Given the description of an element on the screen output the (x, y) to click on. 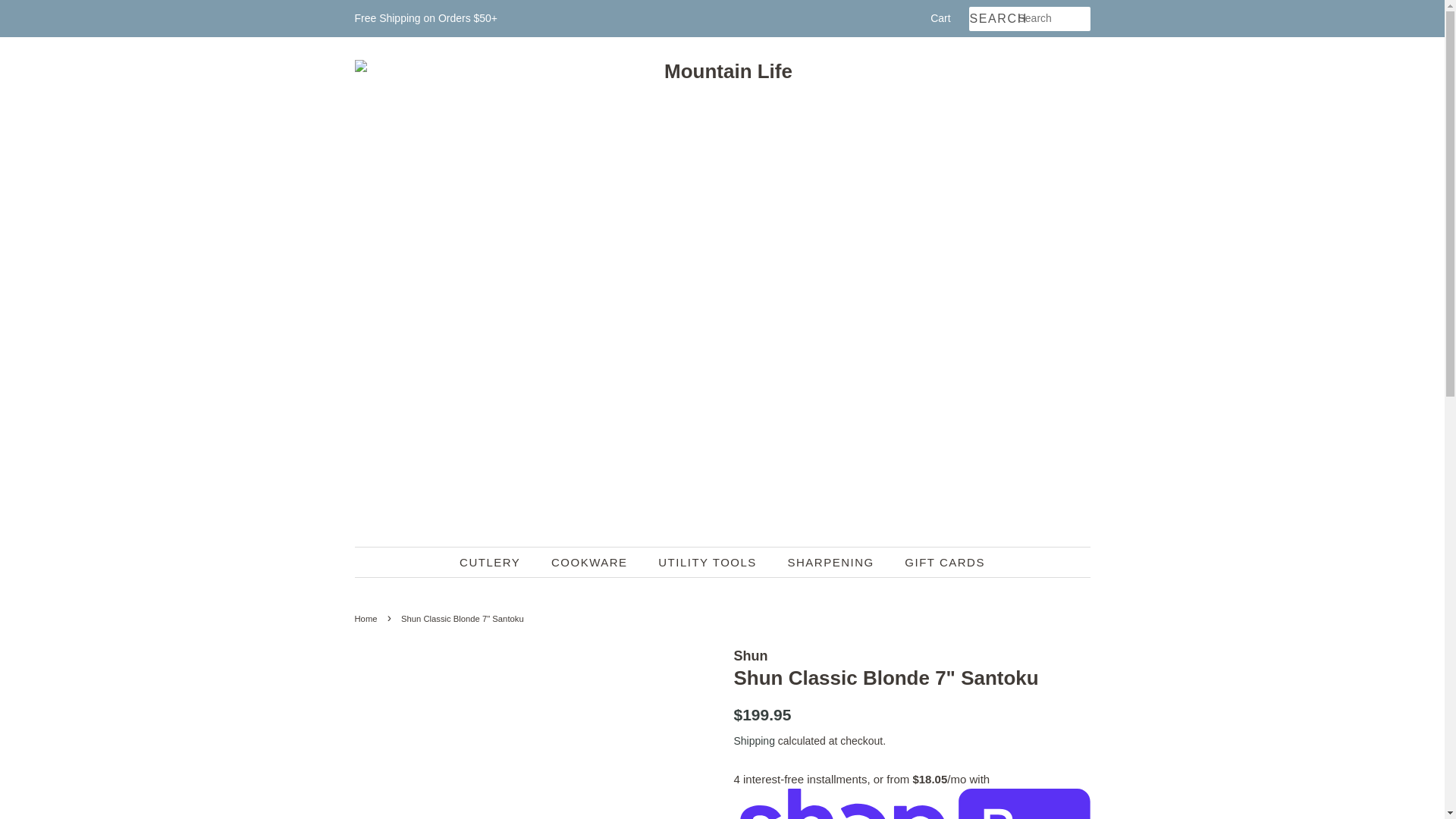
SEARCH (993, 18)
COOKWARE (591, 562)
Back to the frontpage (368, 618)
UTILITY TOOLS (708, 562)
CUTLERY (497, 562)
Cart (940, 18)
